Given the description of an element on the screen output the (x, y) to click on. 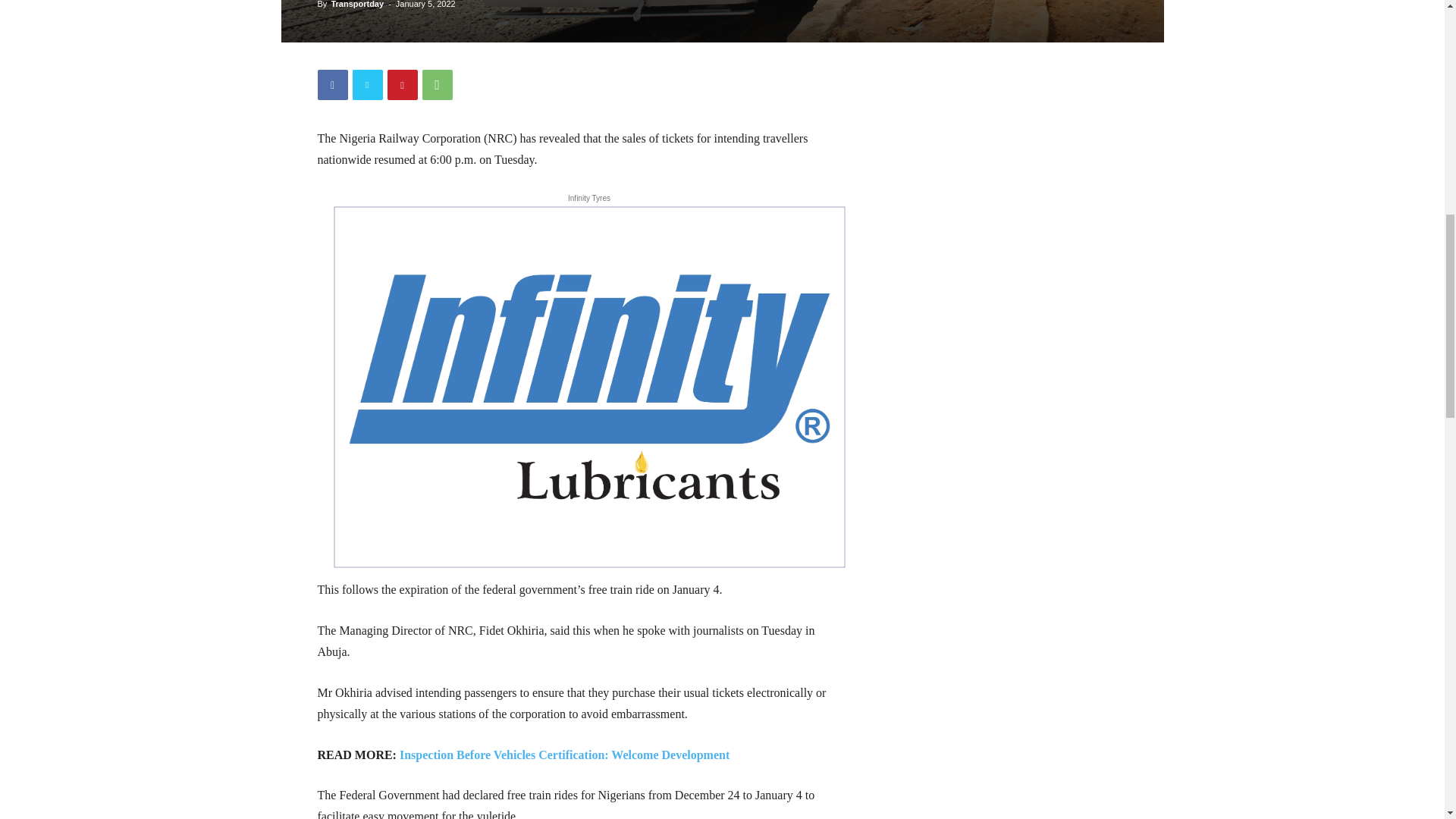
Facebook (332, 84)
NRC Train (722, 21)
